Given the description of an element on the screen output the (x, y) to click on. 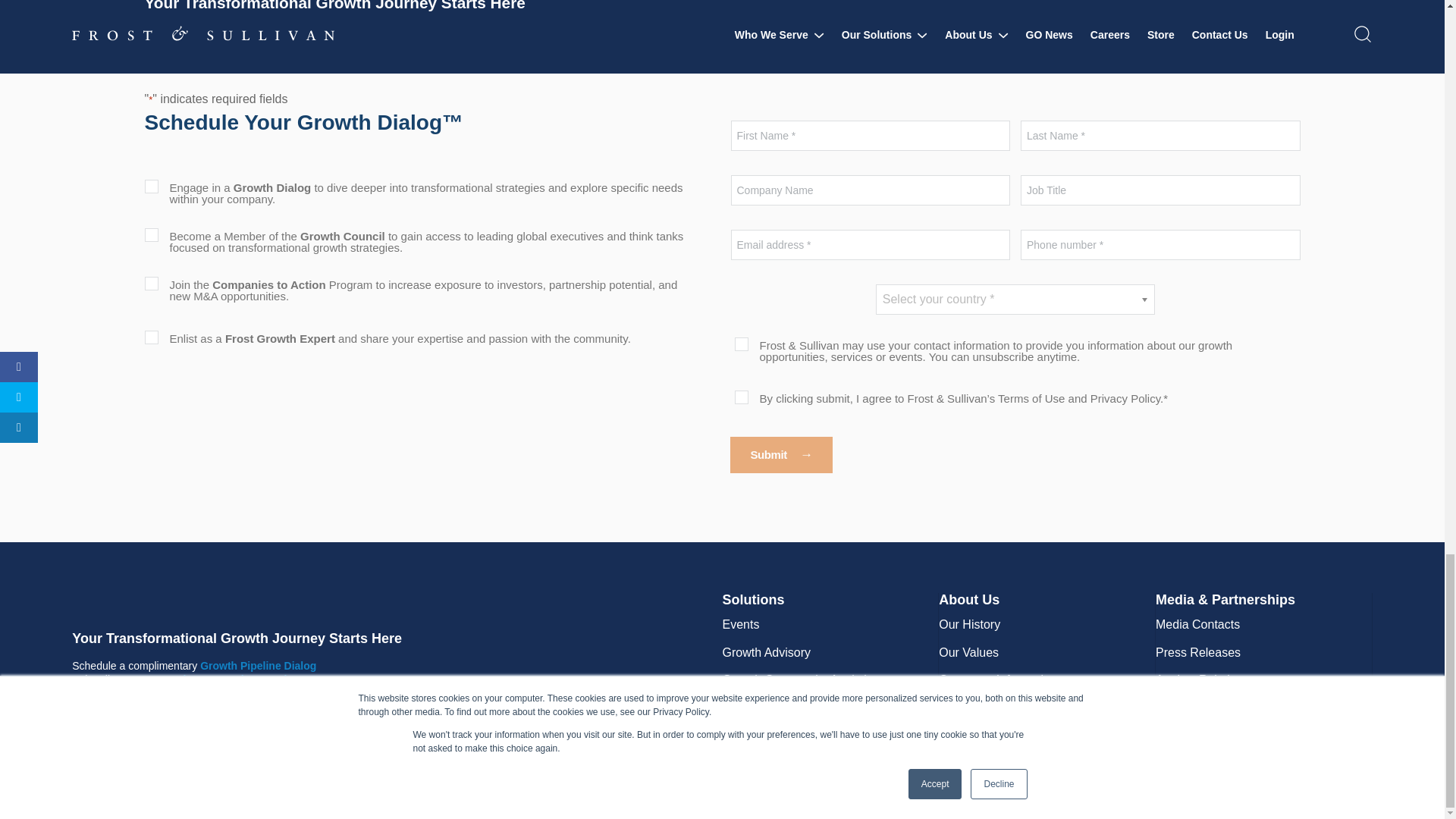
frostsullivanlogo (223, 601)
